Given the description of an element on the screen output the (x, y) to click on. 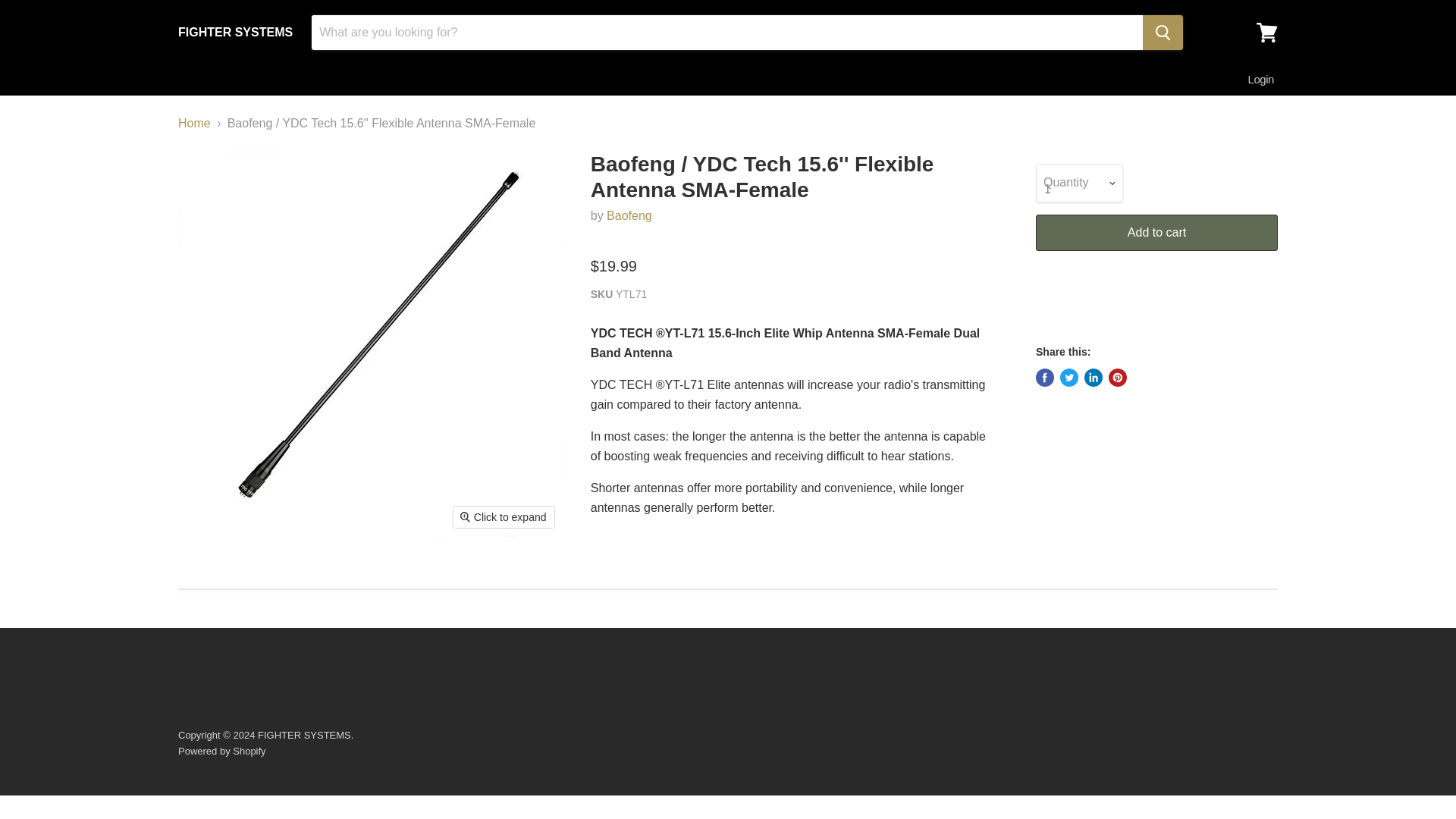
Login (1260, 79)
Share on LinkedIn (1093, 377)
Tweet on Twitter (1068, 377)
Baofeng (629, 215)
Add to cart (1156, 232)
Click to expand (503, 516)
Powered by Shopify (221, 750)
FIGHTER SYSTEMS (234, 32)
View cart (1267, 32)
Share on Facebook (1044, 377)
